Given the description of an element on the screen output the (x, y) to click on. 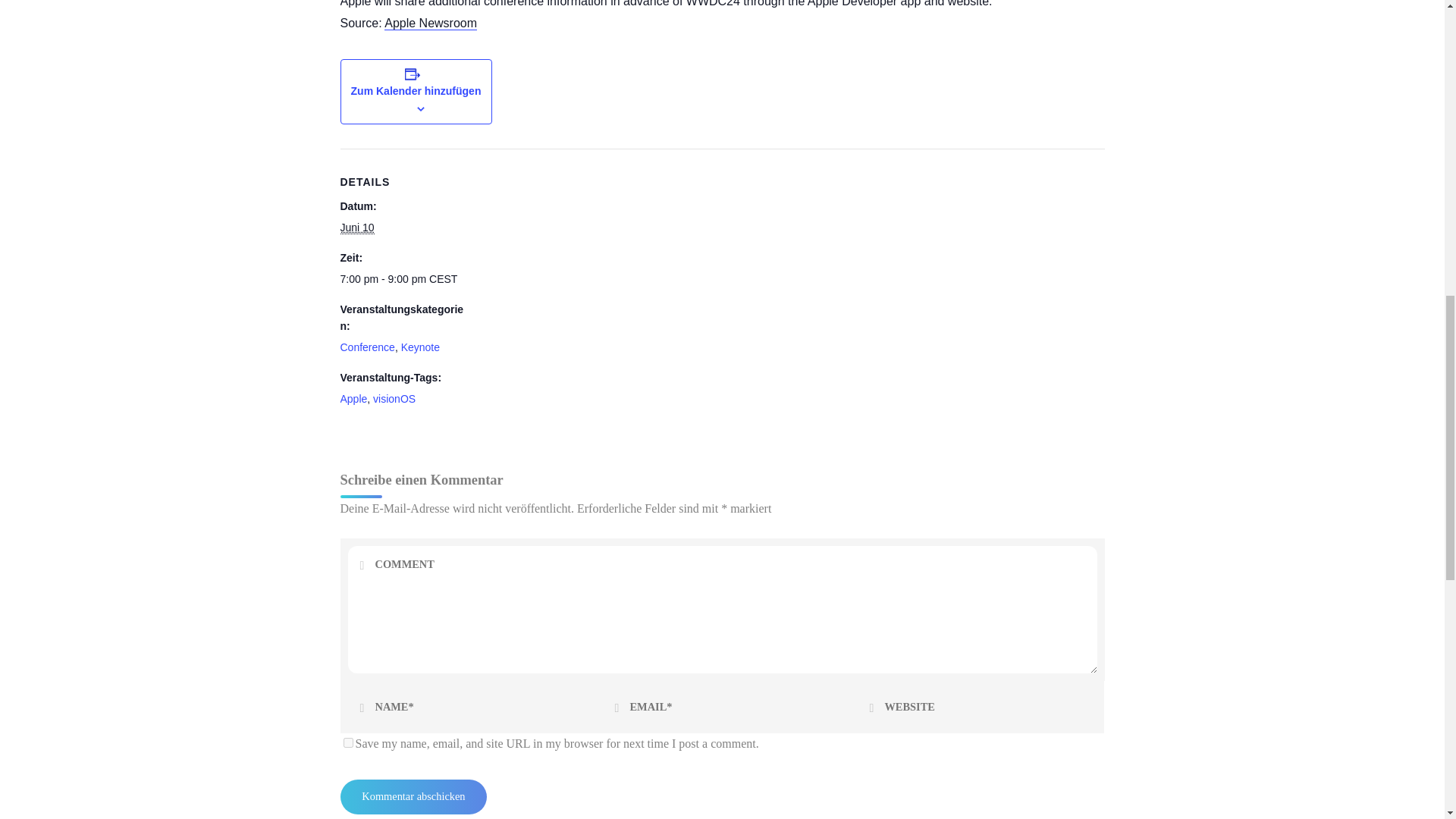
yes (347, 742)
Apple Newsroom (430, 23)
Kommentar abschicken (412, 796)
2024-06-10 (356, 227)
Conference (366, 346)
2024-06-10 (403, 279)
